Given the description of an element on the screen output the (x, y) to click on. 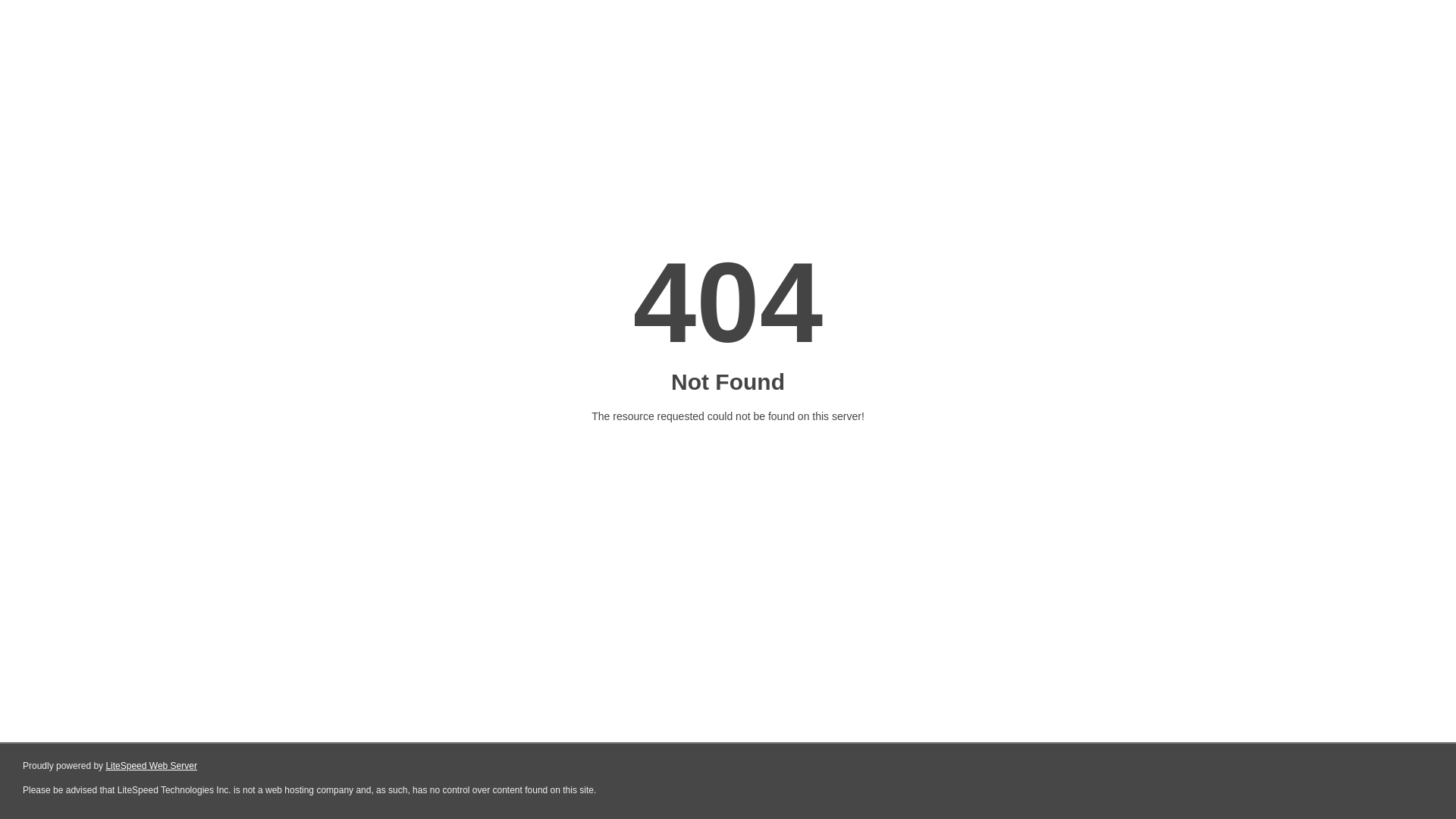
LiteSpeed Web Server (150, 765)
